Given the description of an element on the screen output the (x, y) to click on. 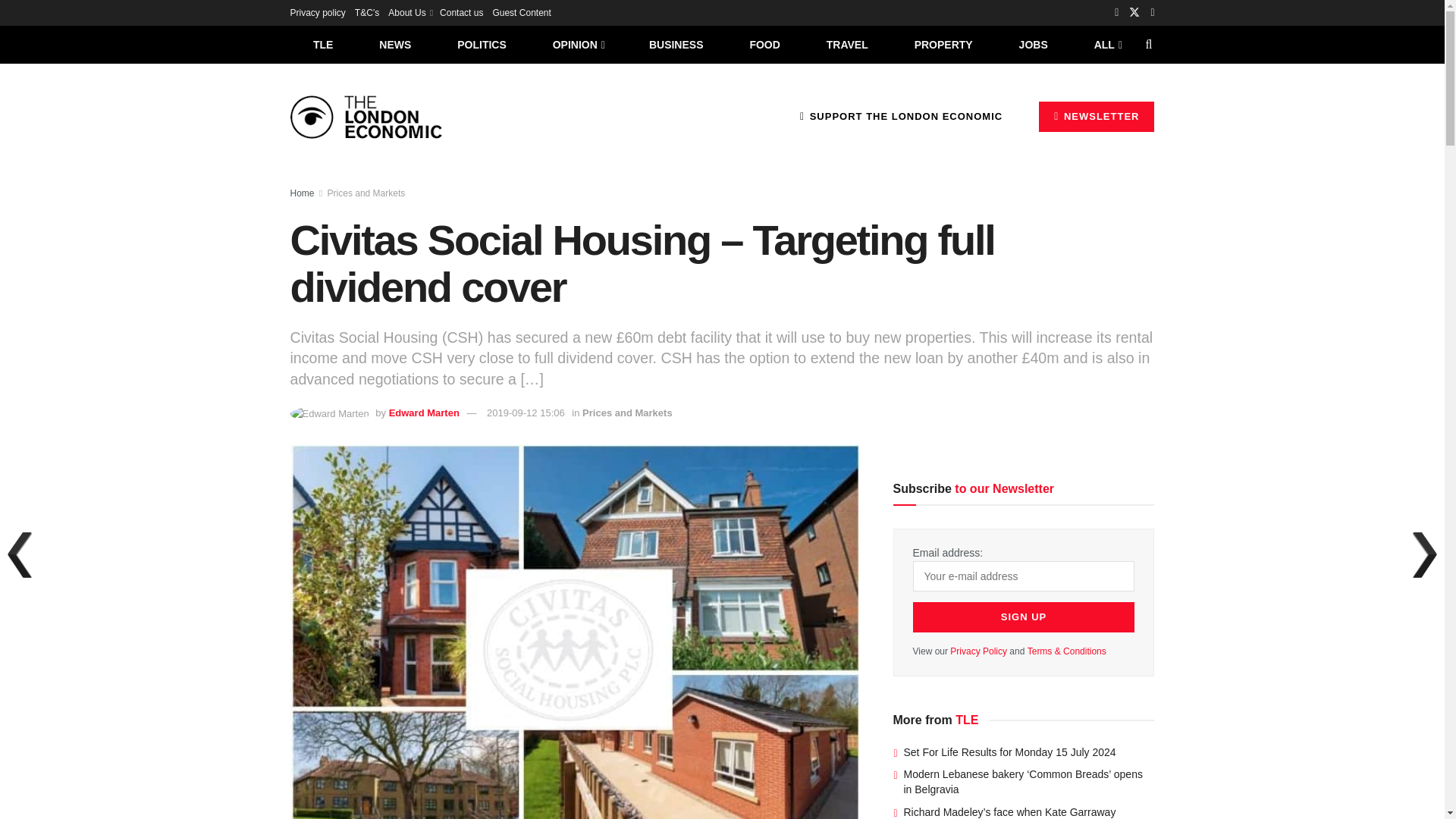
NEWSLETTER (1096, 116)
NEWS (394, 44)
Sign up (1023, 616)
FOOD (764, 44)
About Us (409, 12)
BUSINESS (676, 44)
SUPPORT THE LONDON ECONOMIC (900, 116)
Home (301, 193)
TLE (322, 44)
POLITICS (481, 44)
Guest Content (521, 12)
TRAVEL (847, 44)
Privacy policy (317, 12)
PROPERTY (943, 44)
JOBS (1032, 44)
